Given the description of an element on the screen output the (x, y) to click on. 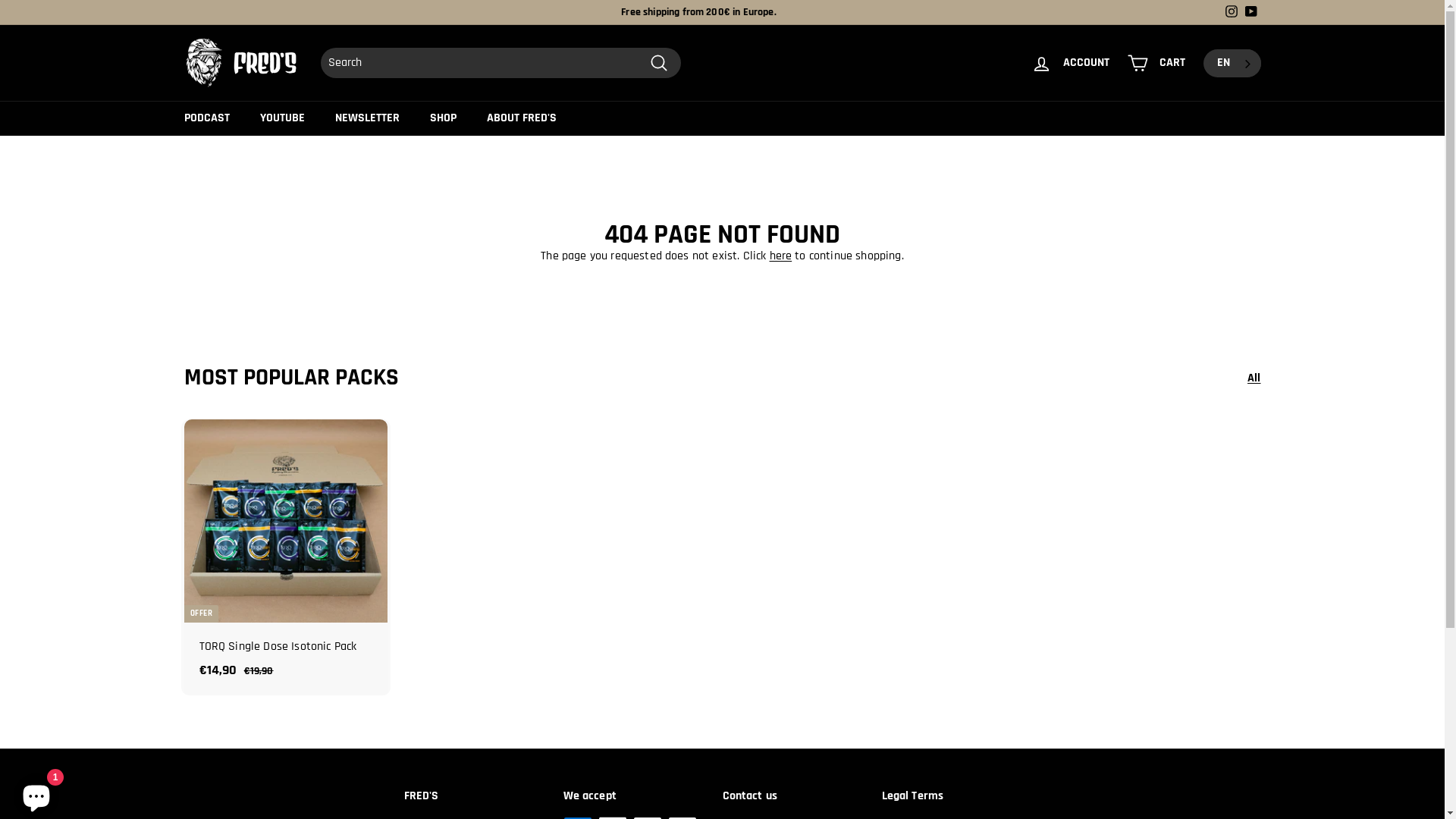
YOUTUBE Element type: text (281, 117)
ABOUT FRED'S Element type: text (521, 117)
NEWSLETTER Element type: text (367, 117)
Go directly to the content Element type: text (0, 0)
YouTube Element type: text (1250, 11)
PODCAST Element type: text (206, 117)
All Element type: text (1253, 378)
here Element type: text (780, 255)
EN Element type: text (1234, 62)
SHOP Element type: text (442, 117)
Instagram Element type: text (1230, 11)
ACCOUNT Element type: text (1070, 62)
